Given the description of an element on the screen output the (x, y) to click on. 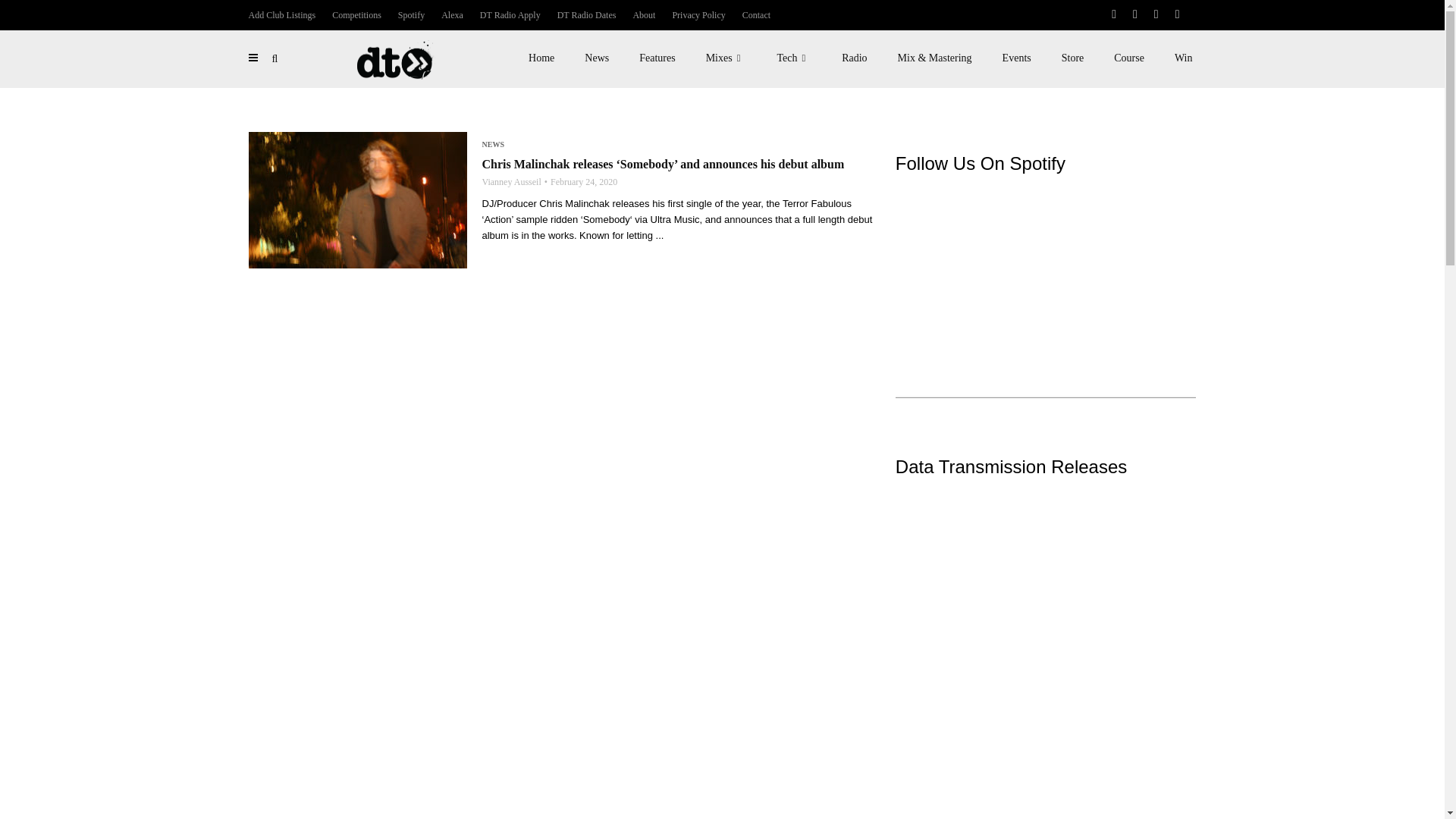
Mixes (725, 57)
Tech (794, 57)
Spotify Embed: New Music Friday (1045, 259)
Events (1016, 57)
Radio (854, 57)
Features (657, 57)
Home (541, 57)
Course (1128, 57)
Store (1072, 57)
News (596, 57)
